Given the description of an element on the screen output the (x, y) to click on. 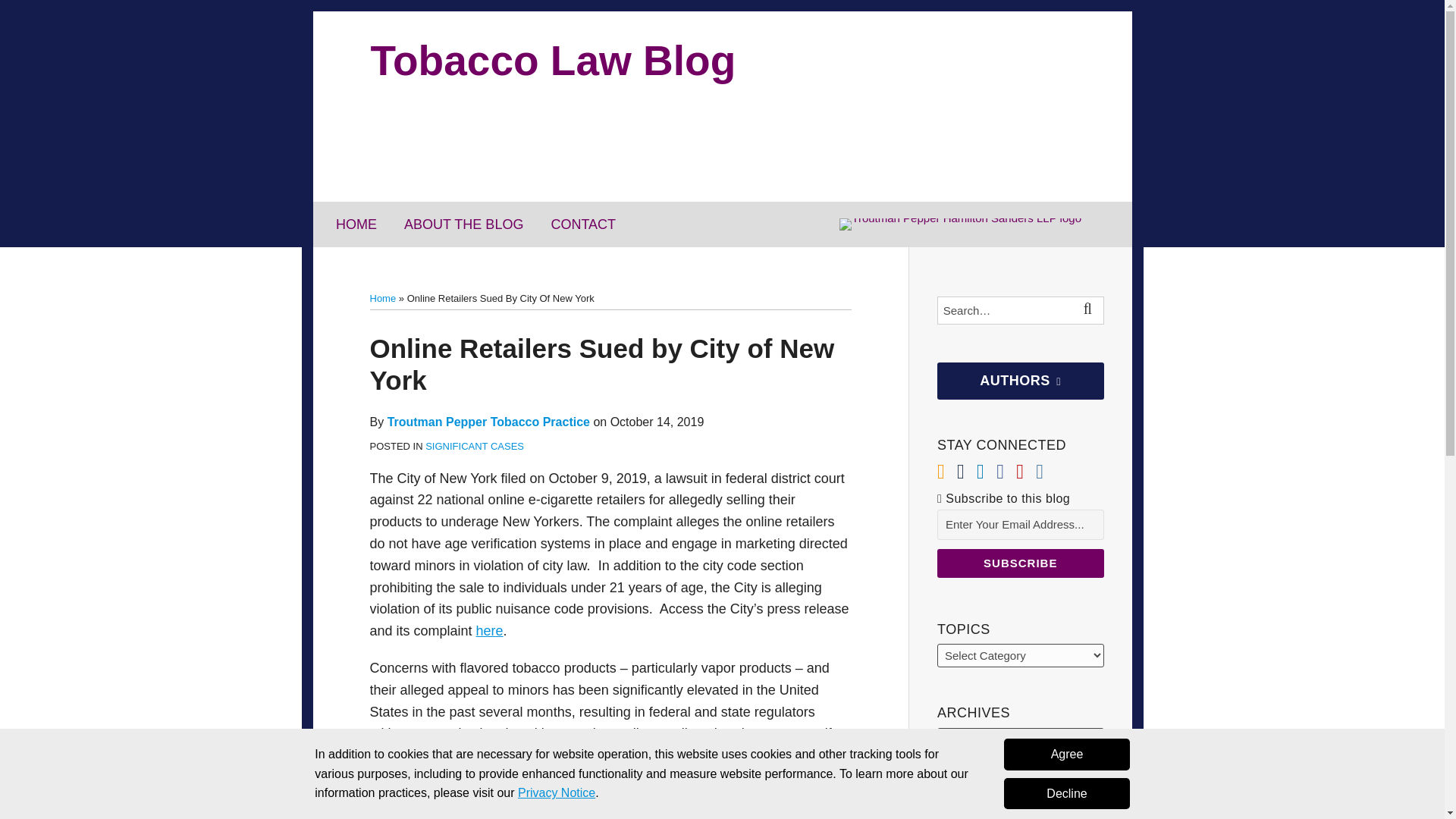
Troutman Pepper Tobacco Practice (488, 421)
here (489, 630)
Decline (1066, 793)
ABOUT THE BLOG (463, 224)
SIGNIFICANT CASES (474, 446)
SEARCH (1088, 310)
Agree (1066, 754)
Privacy Notice (556, 792)
HOME (356, 224)
CONTACT (582, 224)
Tobacco Law Blog (552, 60)
Home (382, 297)
Subscribe (1020, 563)
